Given the description of an element on the screen output the (x, y) to click on. 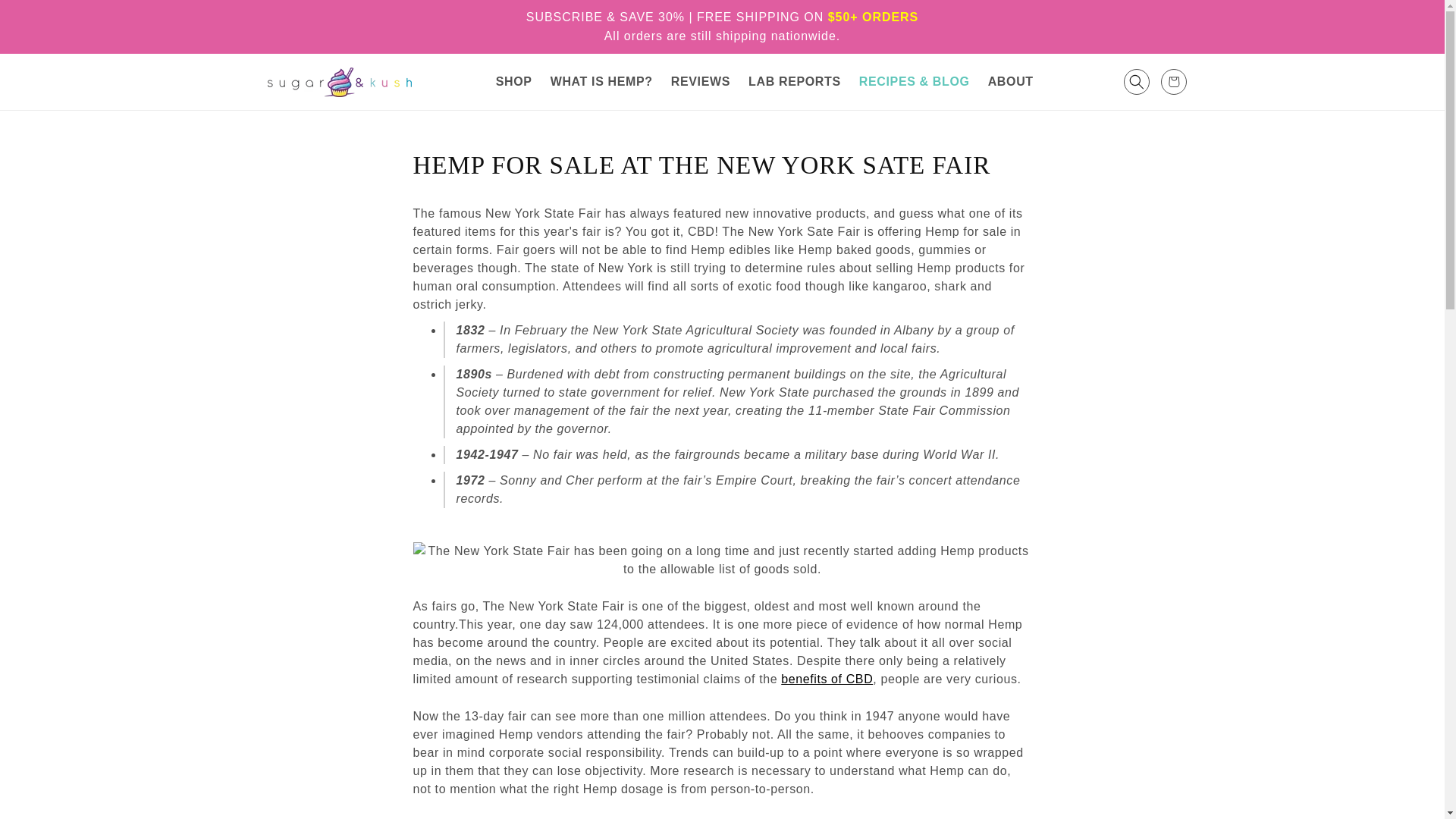
WHAT IS HEMP? (601, 81)
ABOUT (1010, 81)
Skip to content (45, 17)
SHOP (513, 81)
LAB REPORTS (794, 81)
REVIEWS (700, 81)
